Given the description of an element on the screen output the (x, y) to click on. 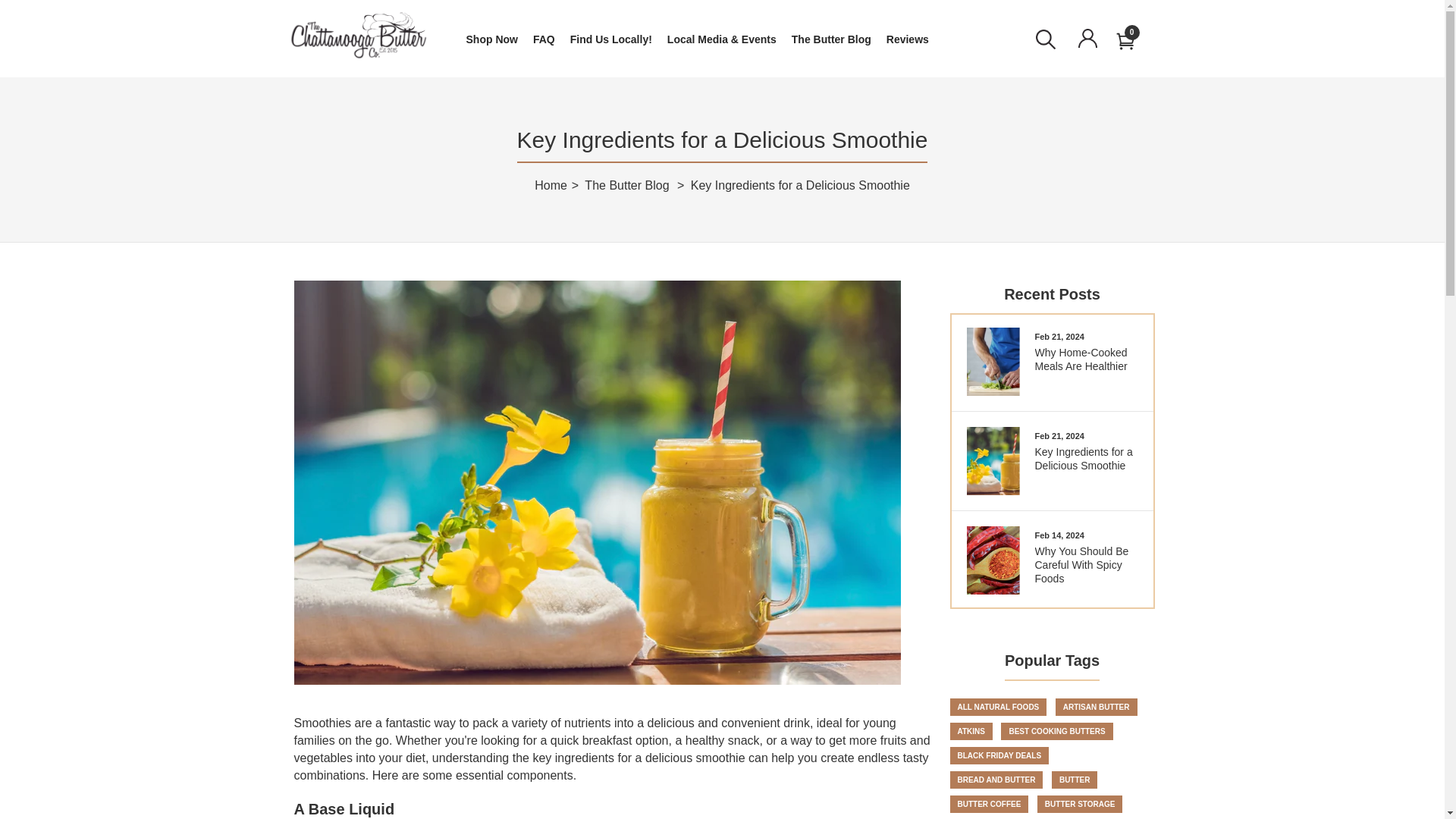
The Chattanooga Butter Company (357, 35)
Reviews (907, 45)
Key Ingredients for a Delicious Smoothie (1051, 556)
Narrow search to articles also having tag atkins (800, 185)
Narrow search to articles also having tag butter (970, 731)
Narrow search to articles also having tag artisan butter (1074, 779)
ATKINS (1096, 706)
Home (970, 731)
Narrow search to articles also having tag all natural foods (550, 185)
Narrow search to articles also having tag Black Friday Deals (997, 706)
Narrow search to articles also having tag butter storage (998, 755)
Shop Now (1051, 449)
ARTISAN BUTTER (1079, 804)
